Given the description of an element on the screen output the (x, y) to click on. 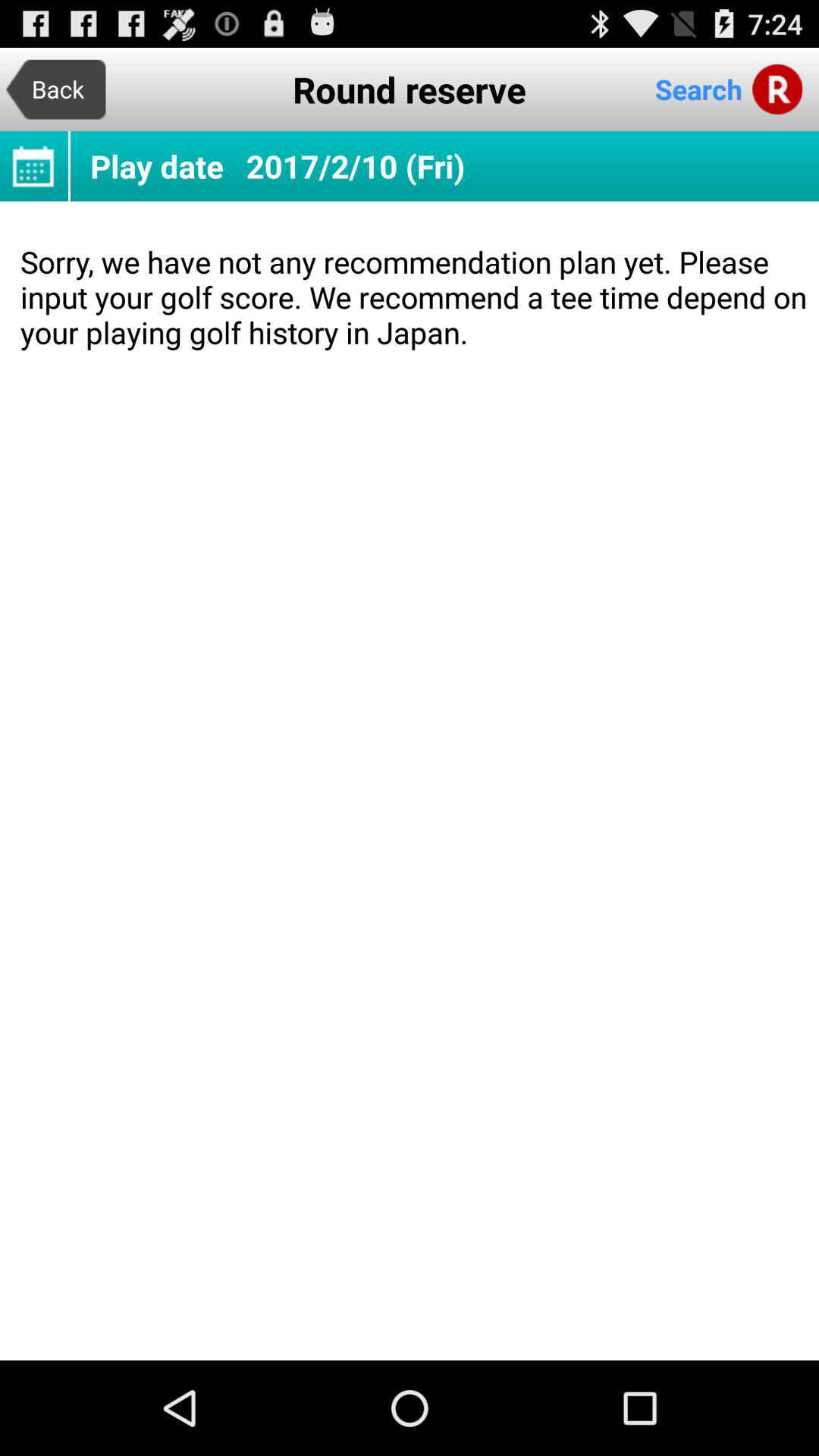
turn off the app next to round reserve item (55, 89)
